Given the description of an element on the screen output the (x, y) to click on. 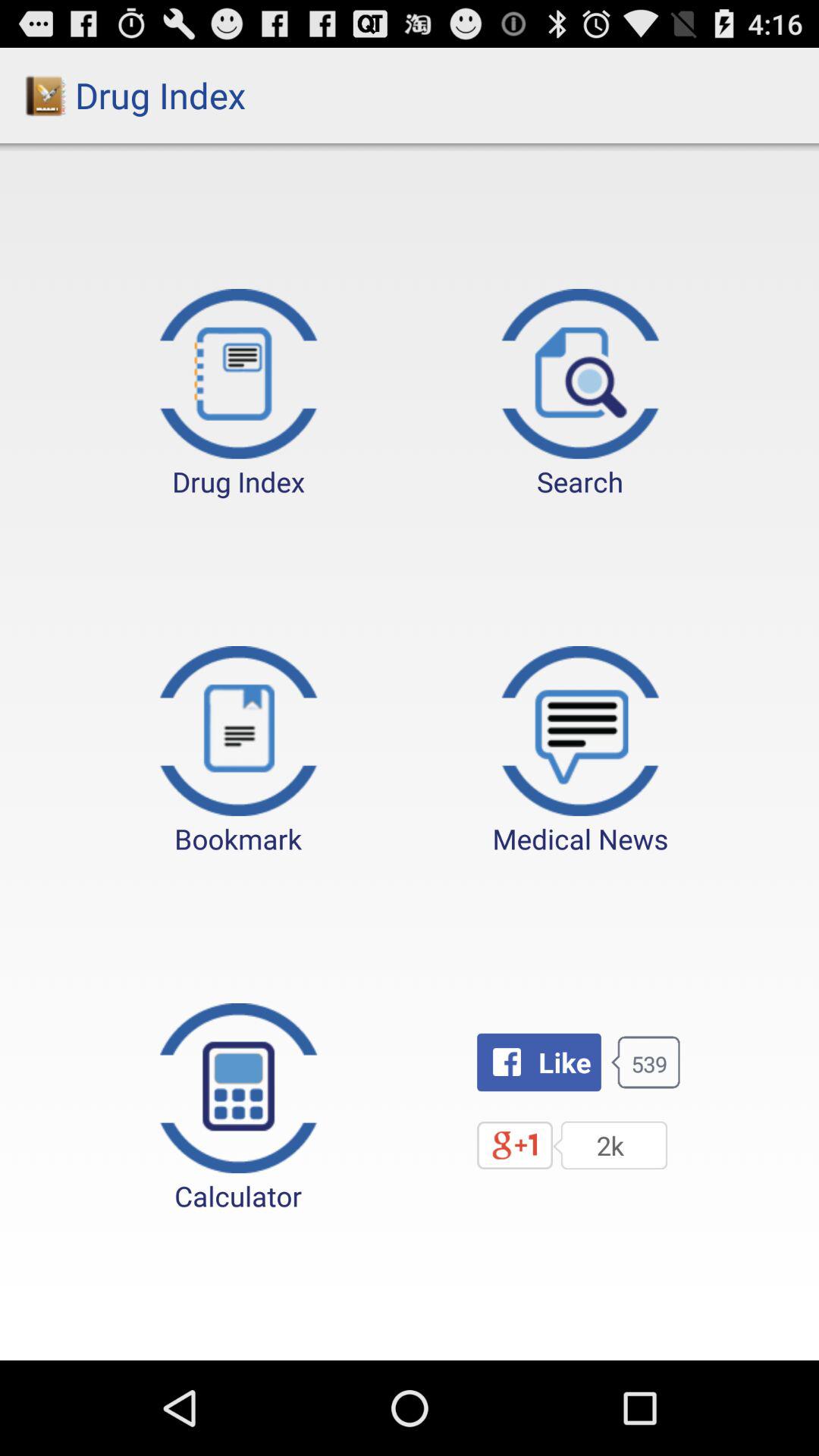
press icon next to like icon (238, 1108)
